Given the description of an element on the screen output the (x, y) to click on. 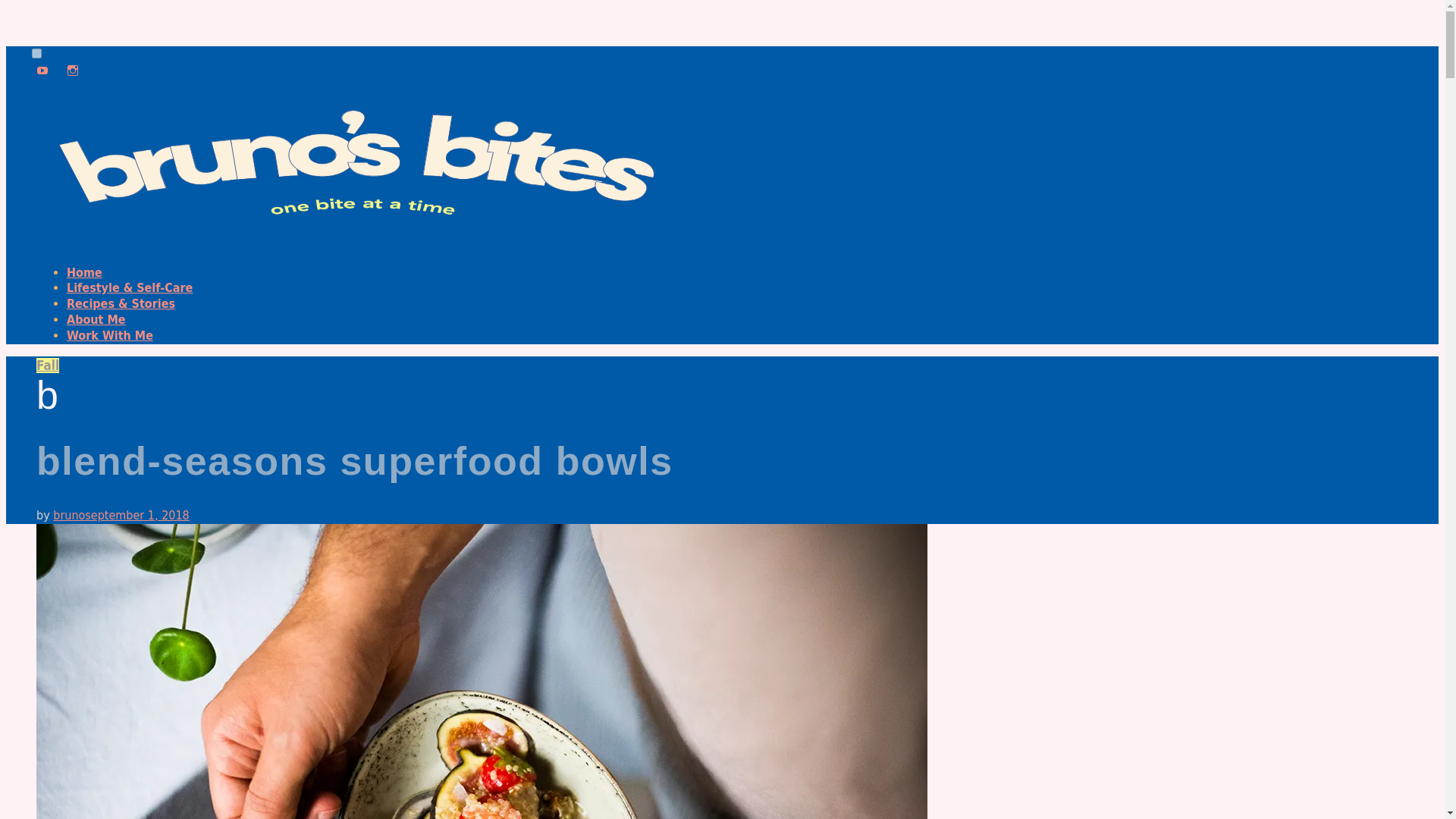
september 1, 2018 (136, 514)
Fall (47, 365)
Work With Me (109, 335)
on (37, 53)
bruno (68, 514)
About Me (95, 319)
Fall (47, 365)
Home (83, 272)
